Given the description of an element on the screen output the (x, y) to click on. 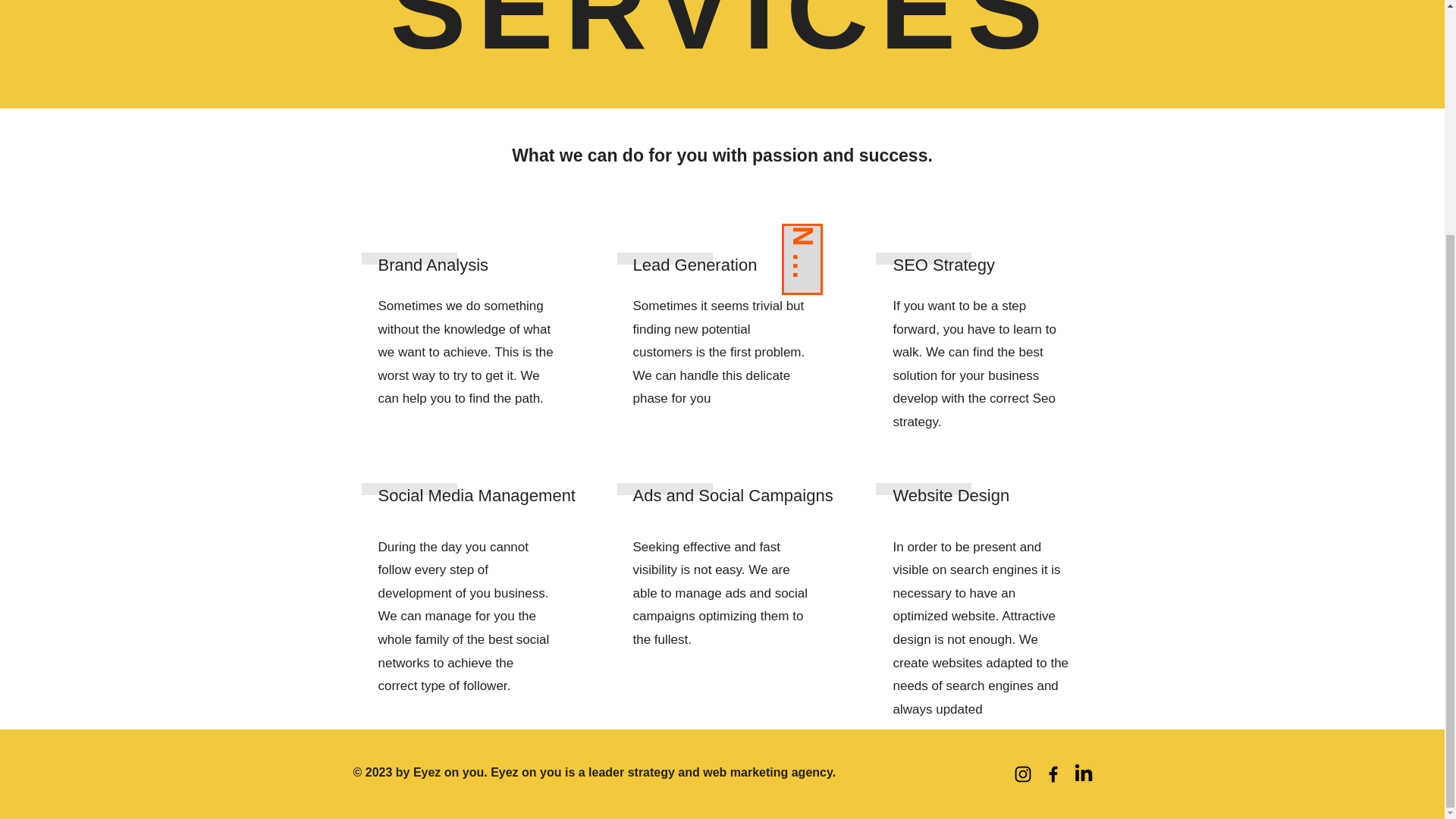
NEW (815, 243)
